Given the description of an element on the screen output the (x, y) to click on. 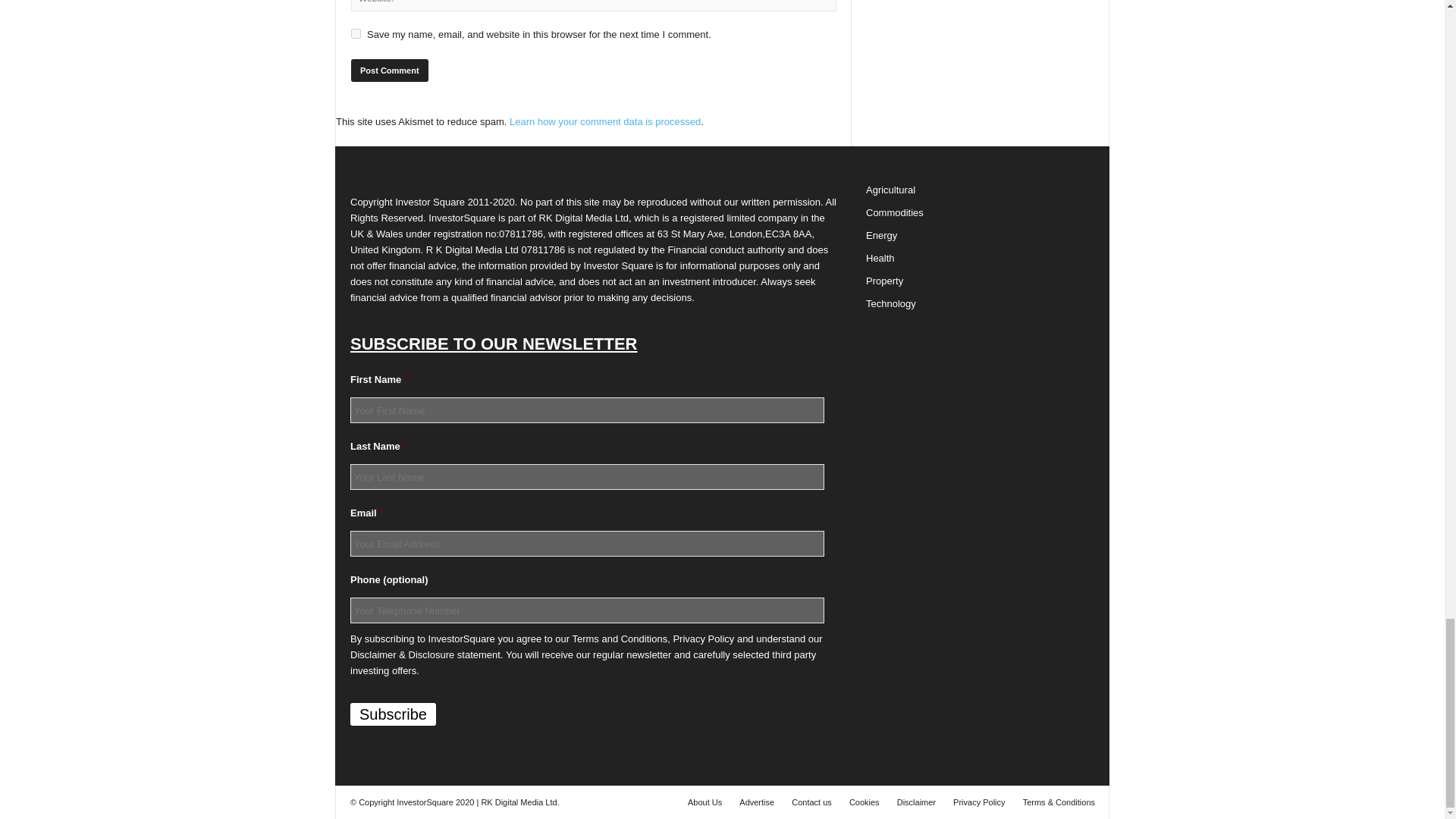
Subscribe (392, 713)
Post Comment (389, 69)
yes (355, 33)
